Given the description of an element on the screen output the (x, y) to click on. 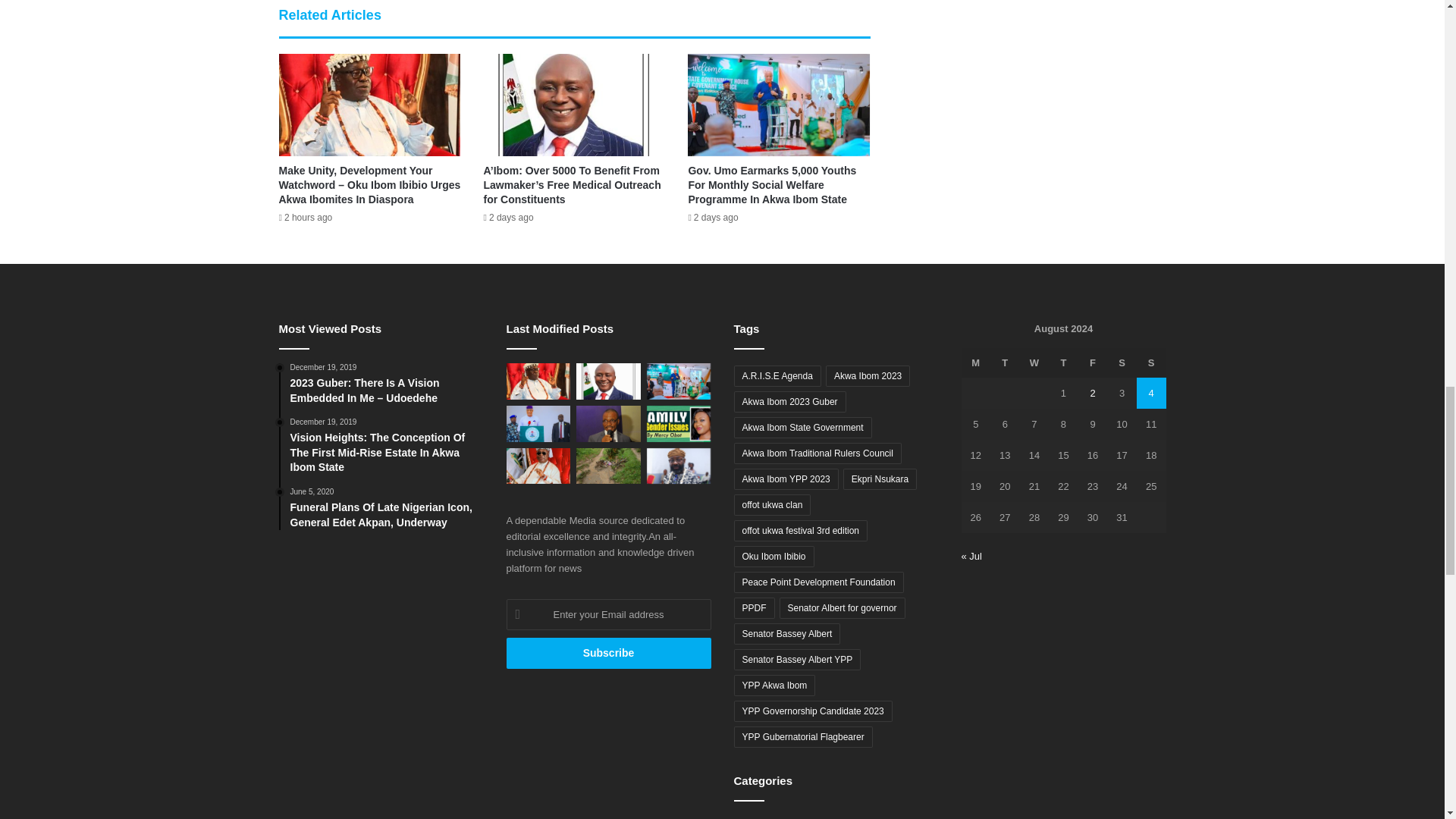
Sunday (1151, 362)
Subscribe (608, 653)
Saturday (1121, 362)
Friday (1093, 362)
Tuesday (1005, 362)
Wednesday (1034, 362)
Thursday (1063, 362)
Monday (975, 362)
